Given the description of an element on the screen output the (x, y) to click on. 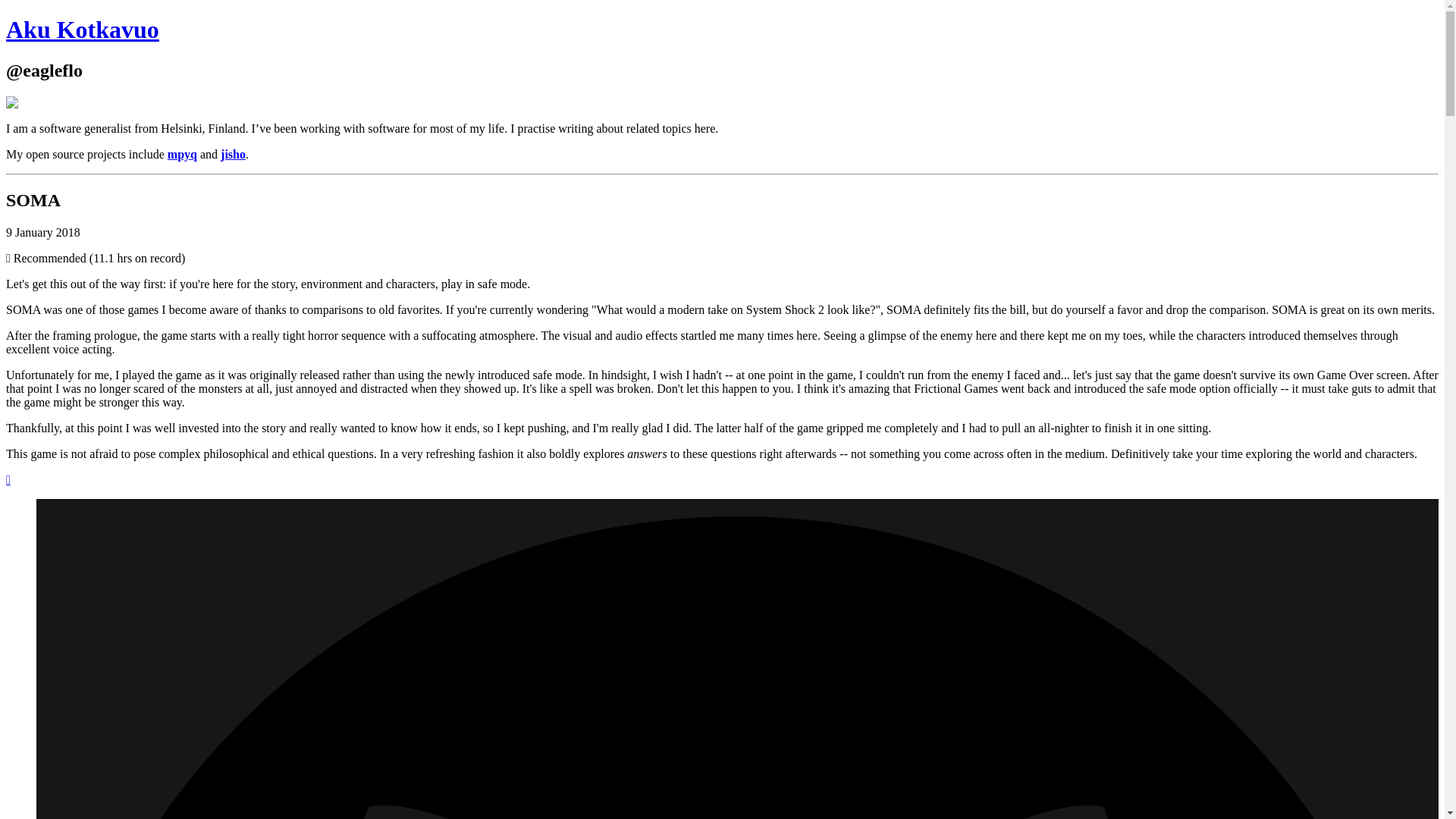
mpyq (181, 154)
Aku Kotkavuo (30, 102)
jisho (233, 154)
